Given the description of an element on the screen output the (x, y) to click on. 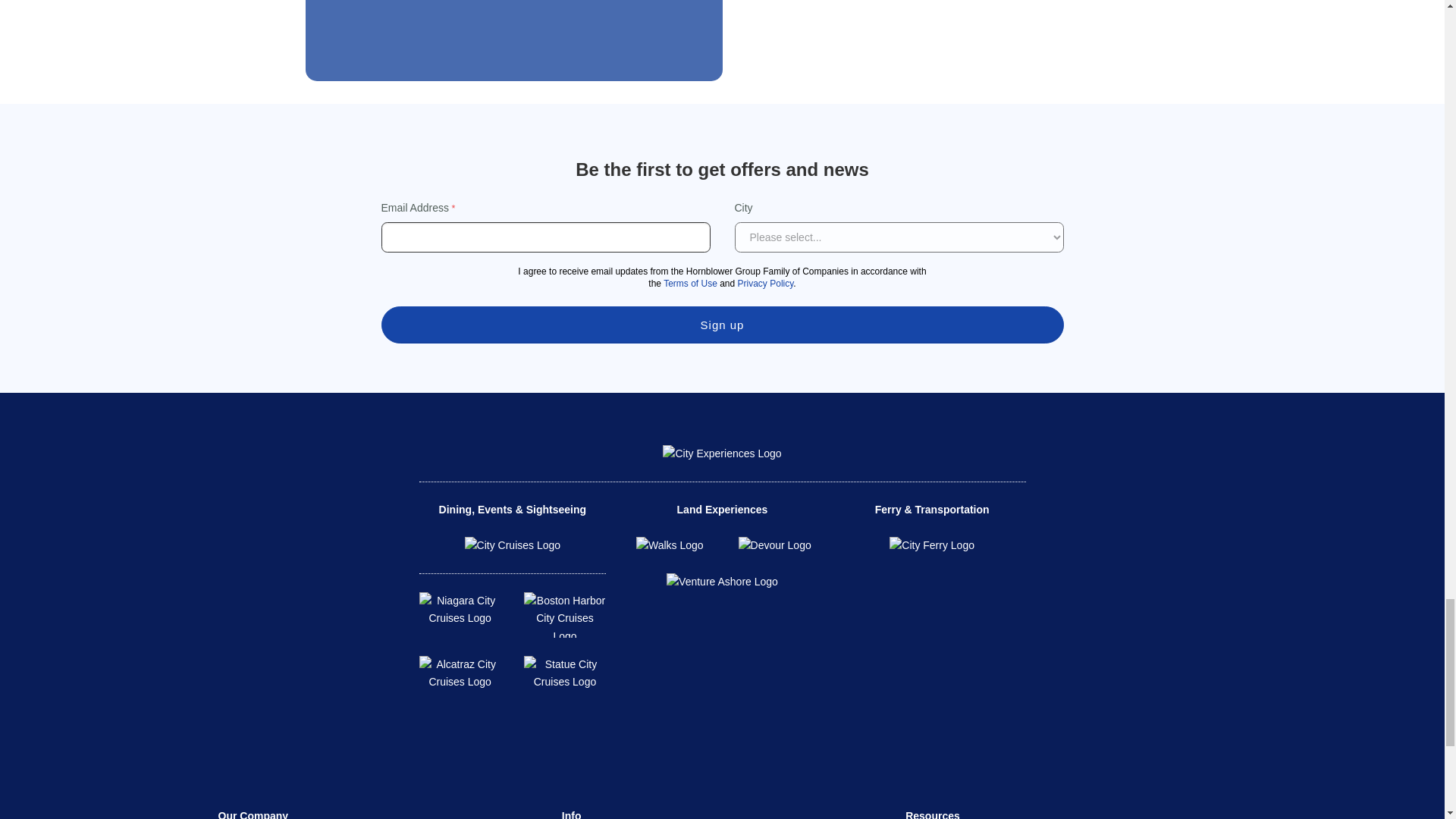
Sign up (721, 324)
